Given the description of an element on the screen output the (x, y) to click on. 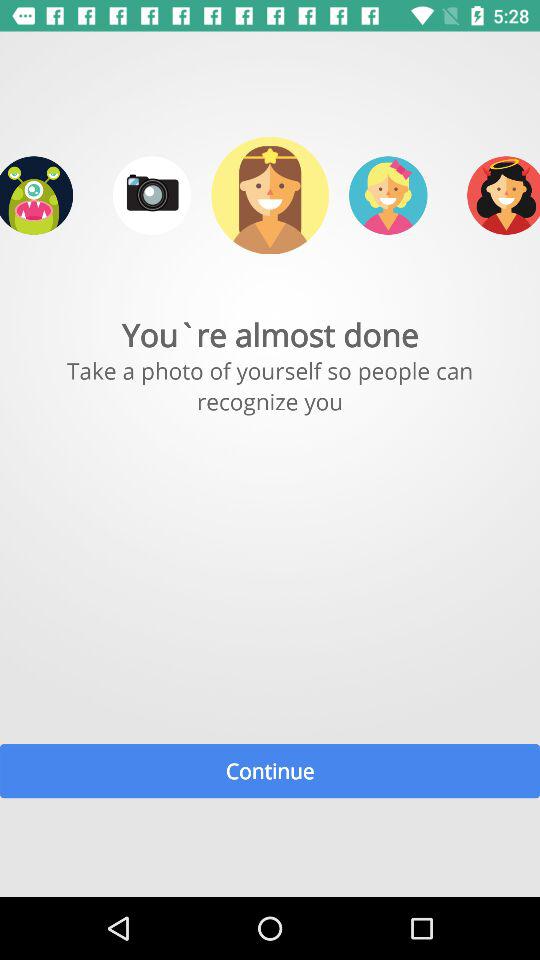
take a photo of yourself (152, 195)
